Given the description of an element on the screen output the (x, y) to click on. 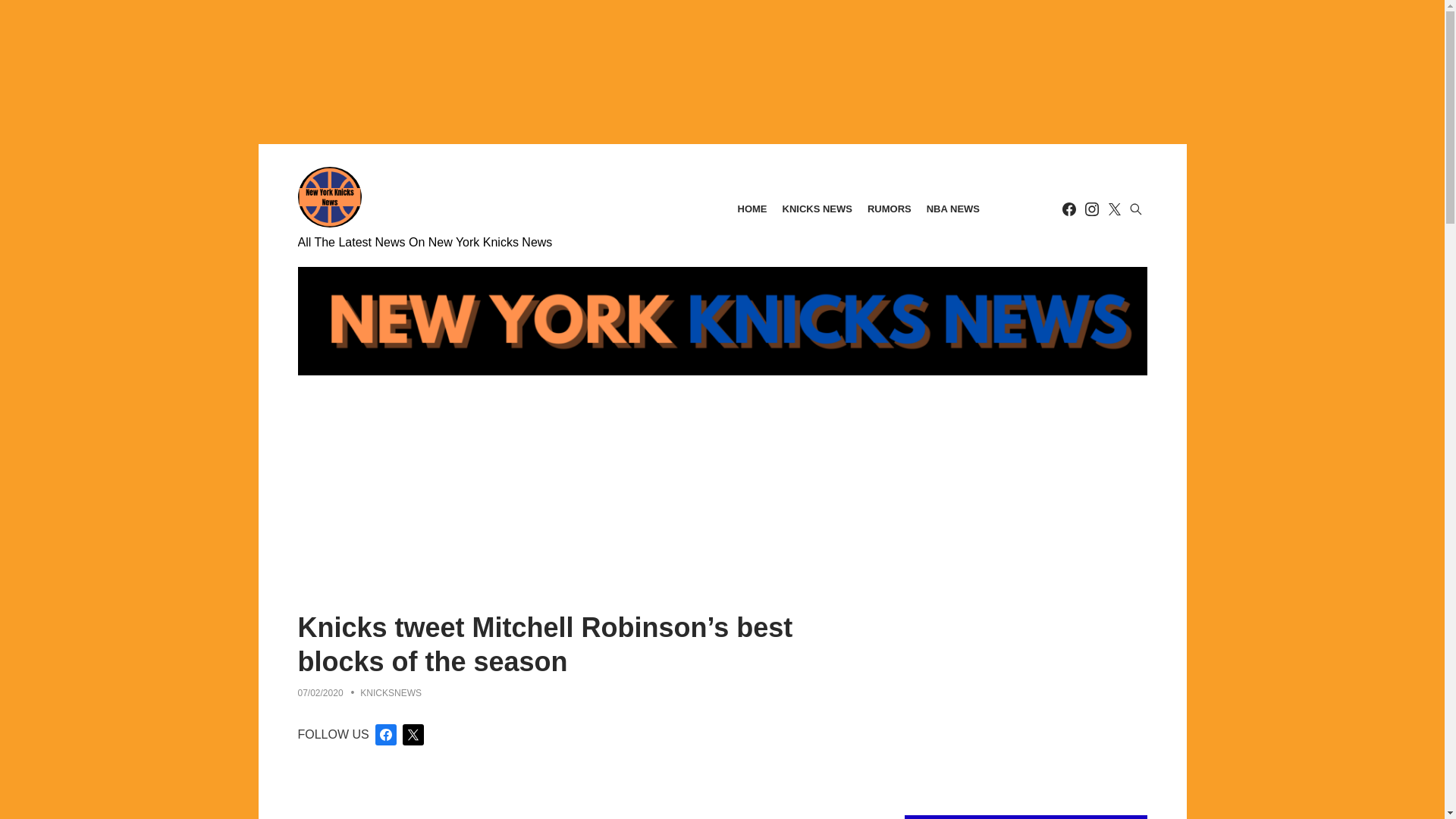
HOME (751, 208)
RUMORS (889, 208)
Instagram (1090, 209)
Facebook (1068, 209)
KNICKS NEWS (817, 208)
Twitter (1113, 209)
NBA NEWS (952, 208)
KNICKSNEWS (390, 693)
